Given the description of an element on the screen output the (x, y) to click on. 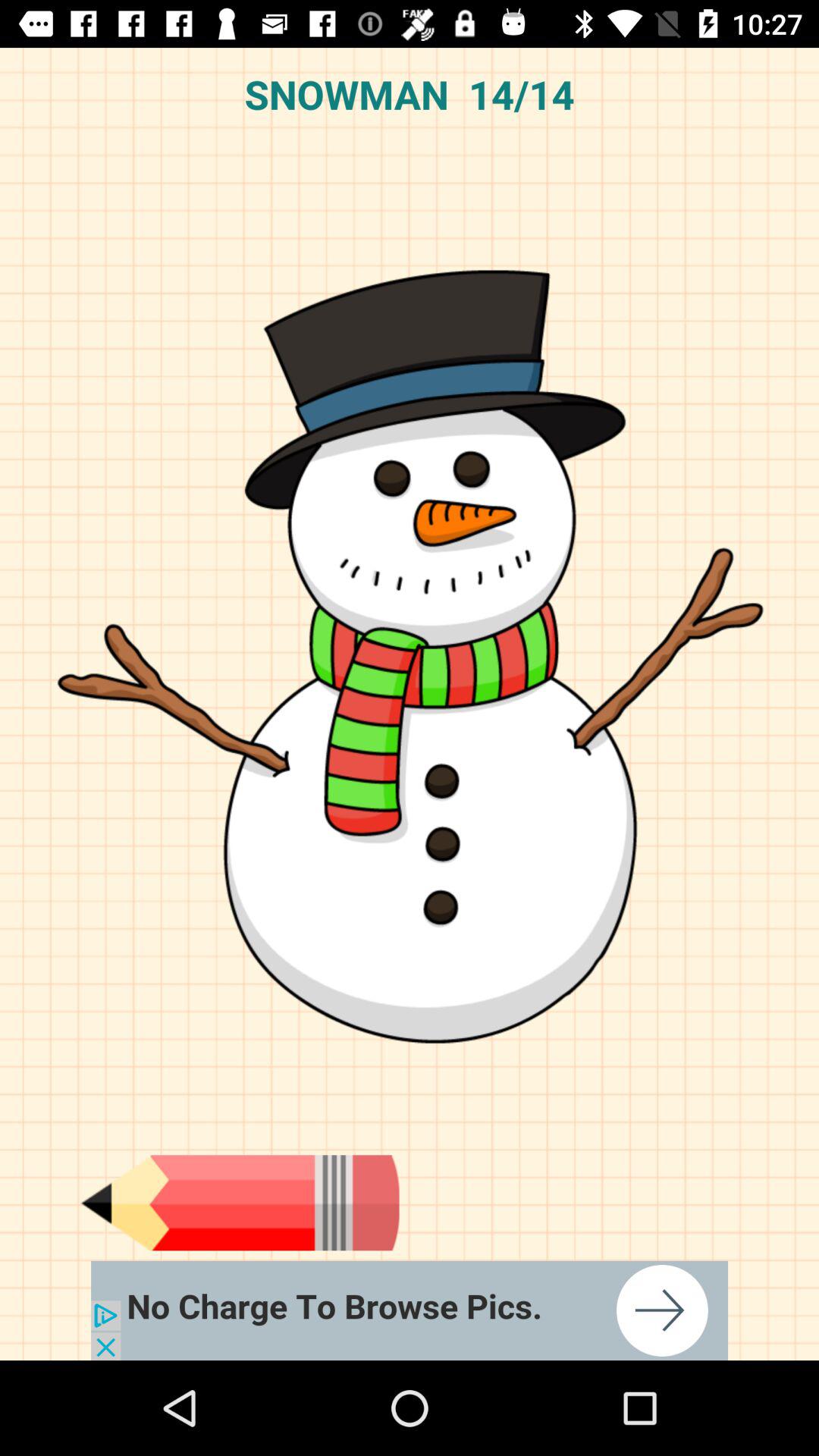
go back (239, 1202)
